Given the description of an element on the screen output the (x, y) to click on. 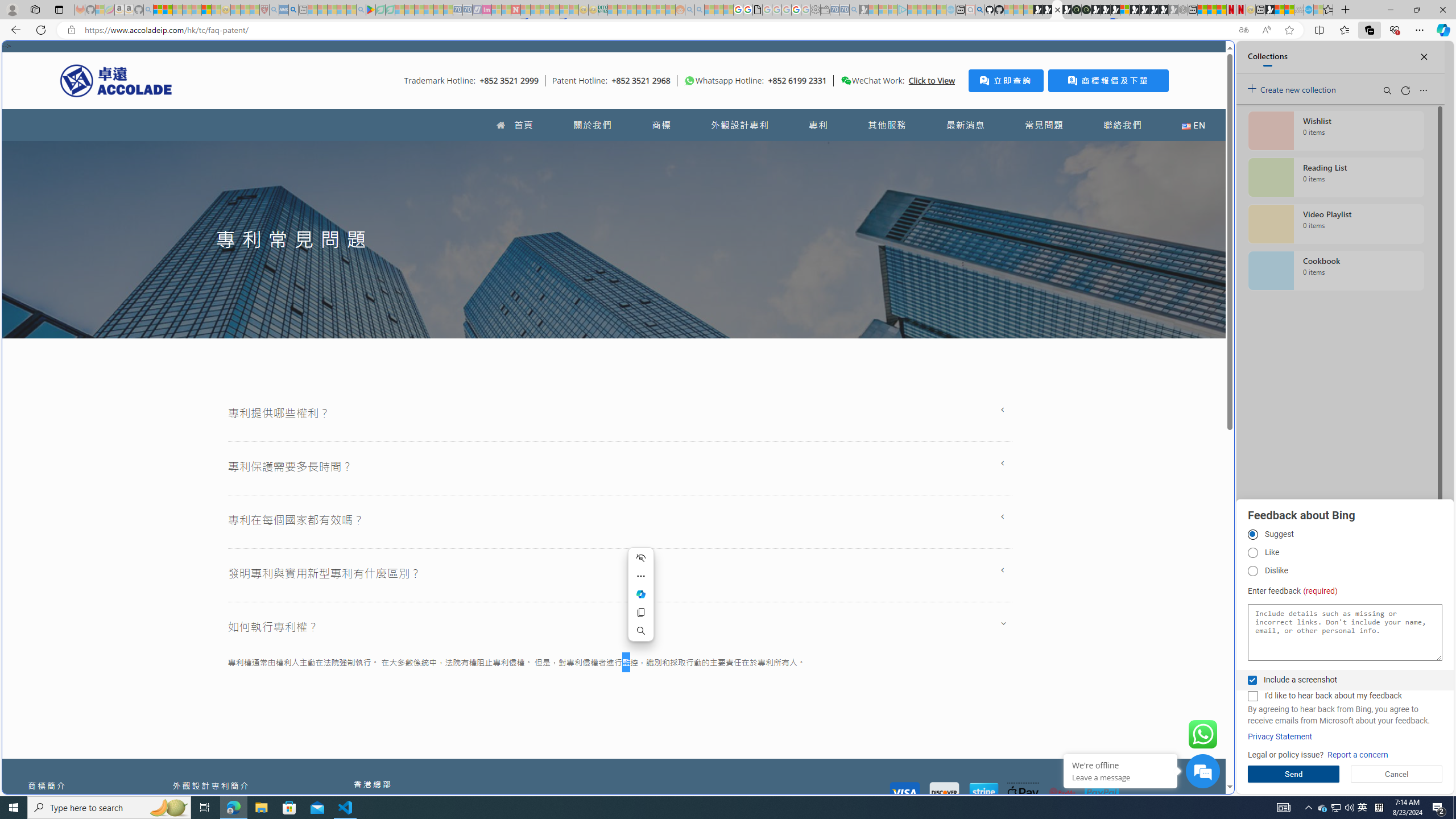
Copy (640, 612)
Kinda Frugal - MSN - Sleeping (651, 9)
I'd like to hear back about my feedback (1252, 696)
list of asthma inhalers uk - Search - Sleeping (273, 9)
Hide menu (640, 557)
Play Cave FRVR in your browser | Games from Microsoft Start (1105, 9)
